Given the description of an element on the screen output the (x, y) to click on. 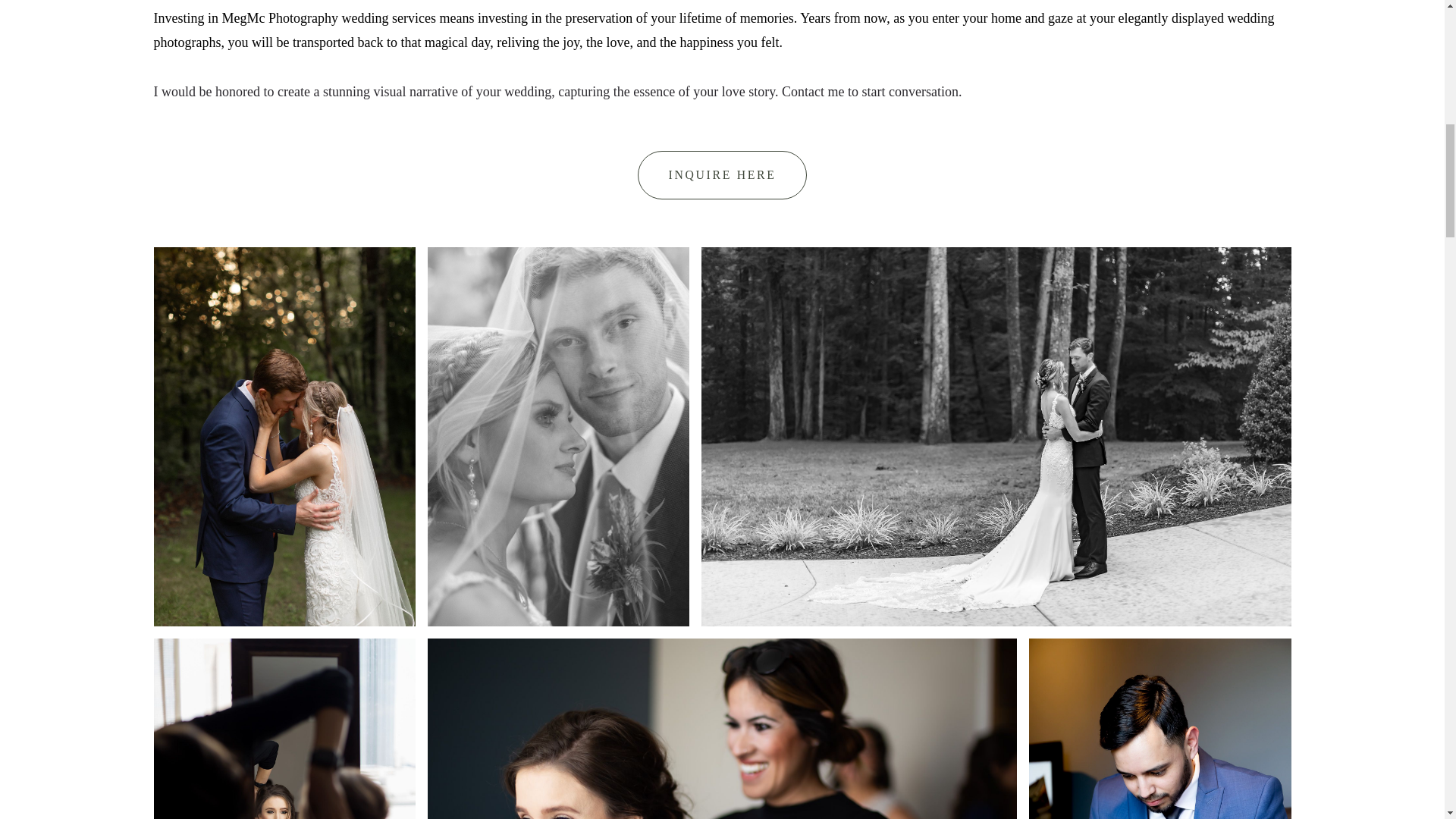
INQUIRE HERE (722, 174)
